Given the description of an element on the screen output the (x, y) to click on. 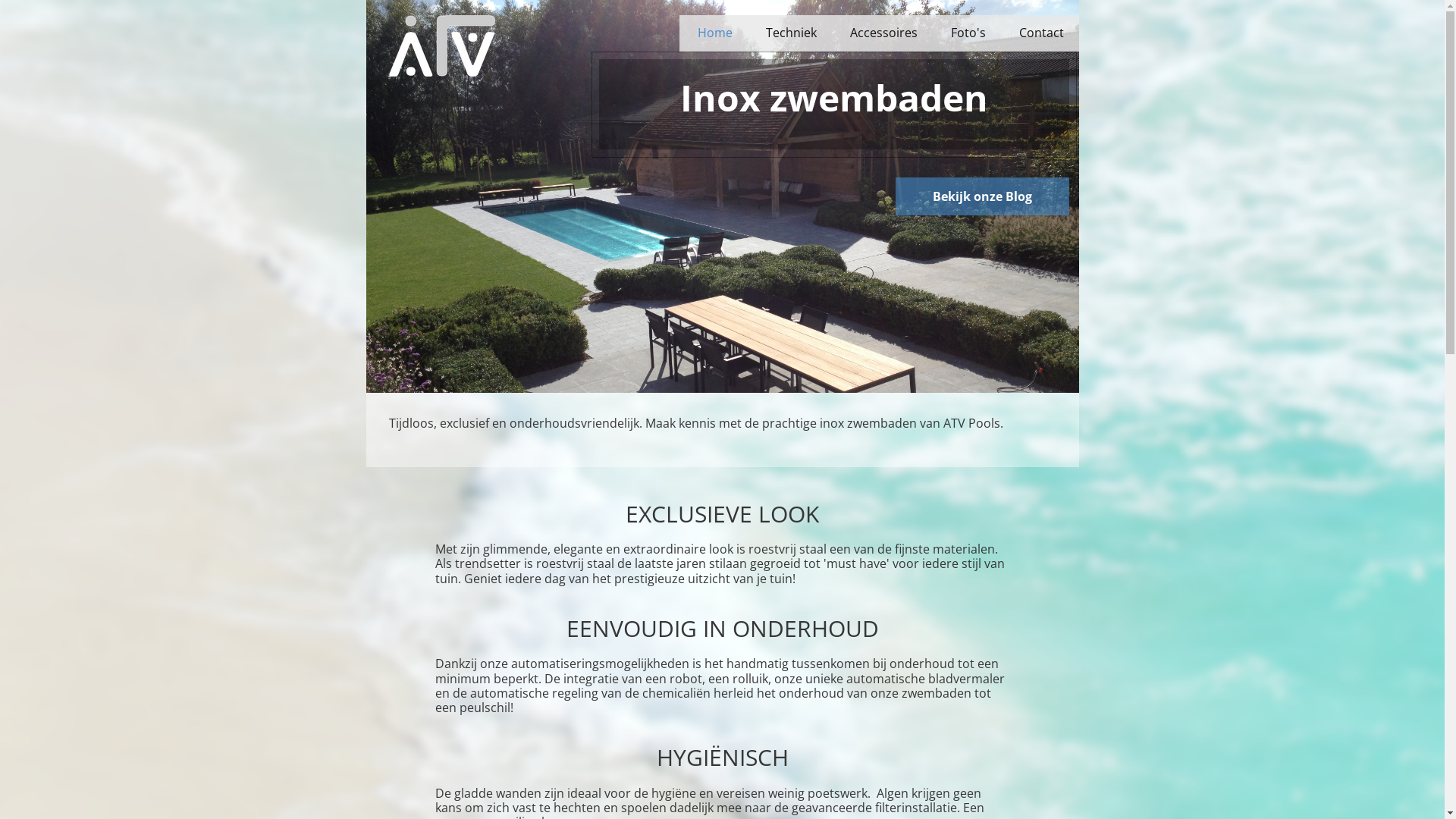
Foto's Element type: text (966, 33)
Bekijk onze Blog Element type: text (981, 196)
Accessoires Element type: text (881, 33)
Techniek Element type: text (789, 33)
Home Element type: text (713, 33)
Contact Element type: text (1040, 33)
Inox zwembaden Element type: text (833, 104)
